Given the description of an element on the screen output the (x, y) to click on. 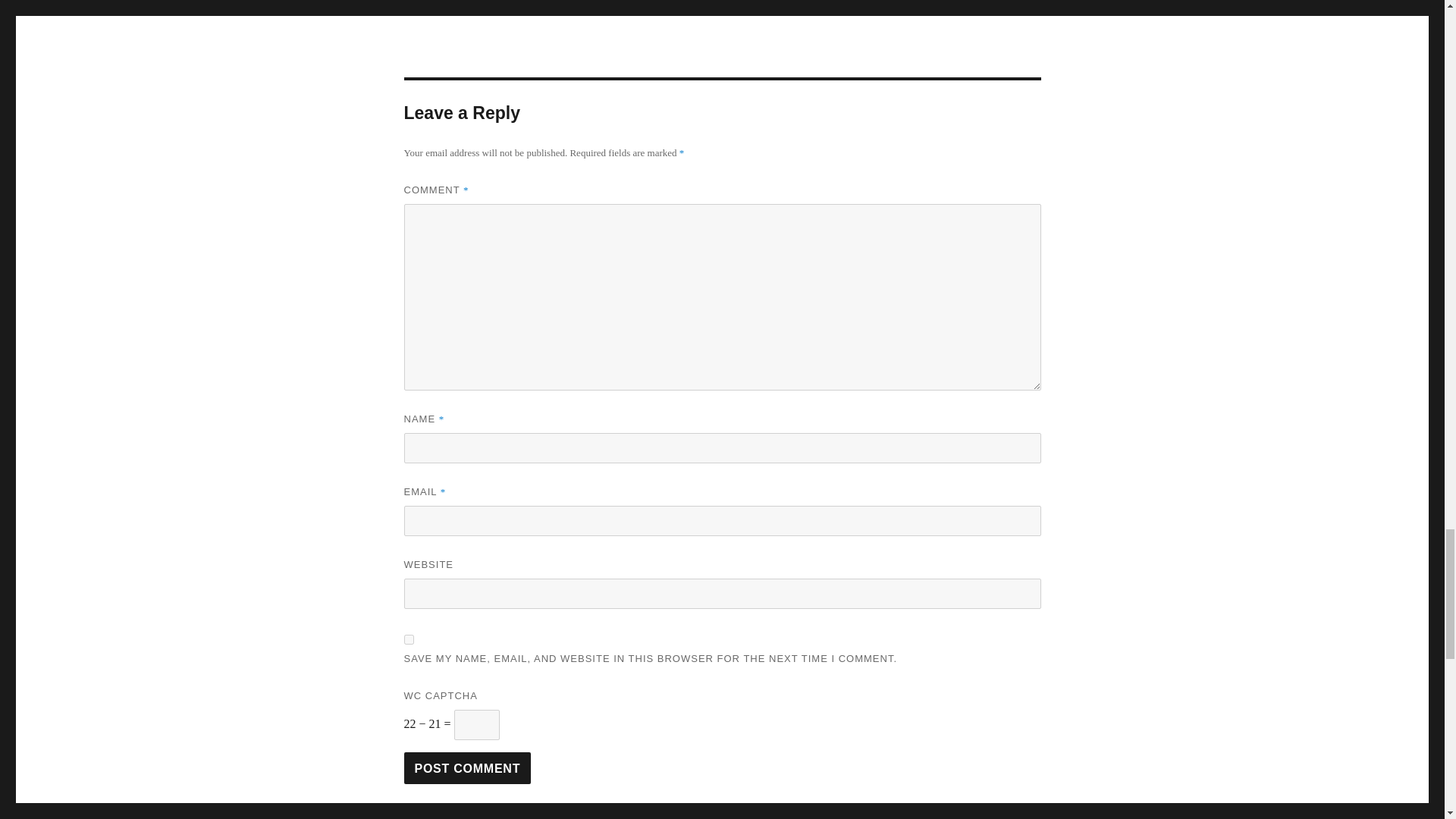
Post Comment (467, 767)
Post Comment (467, 767)
yes (408, 639)
